Given the description of an element on the screen output the (x, y) to click on. 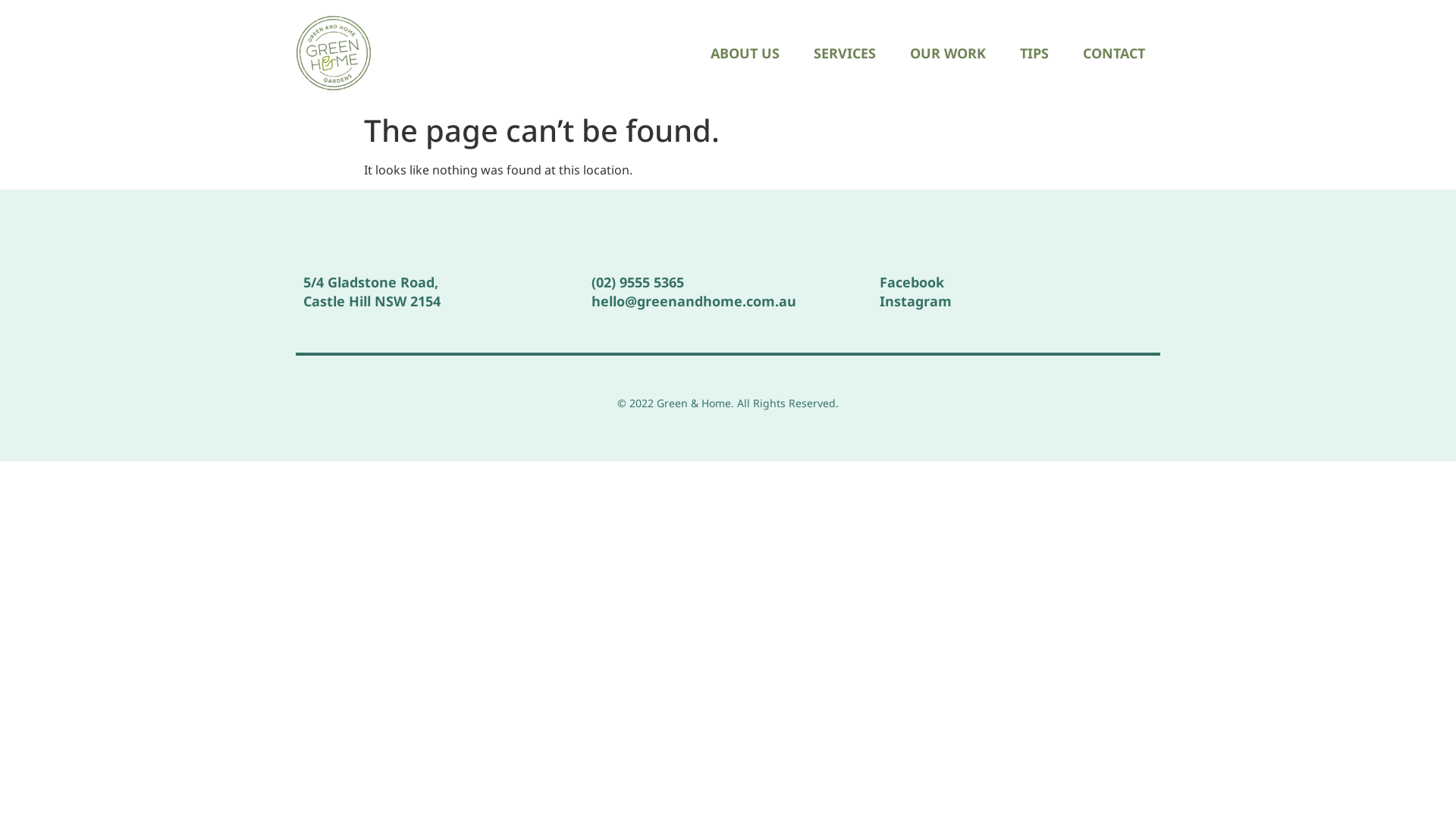
OUR WORK Element type: text (947, 53)
Facebook Element type: text (911, 282)
SERVICES Element type: text (844, 53)
ABOUT US Element type: text (744, 53)
Instagram Element type: text (915, 300)
TIPS Element type: text (1033, 53)
CONTACT Element type: text (1113, 53)
(02) 9555 5365 Element type: text (637, 282)
hello@greenandhome.com.au Element type: text (693, 300)
